Given the description of an element on the screen output the (x, y) to click on. 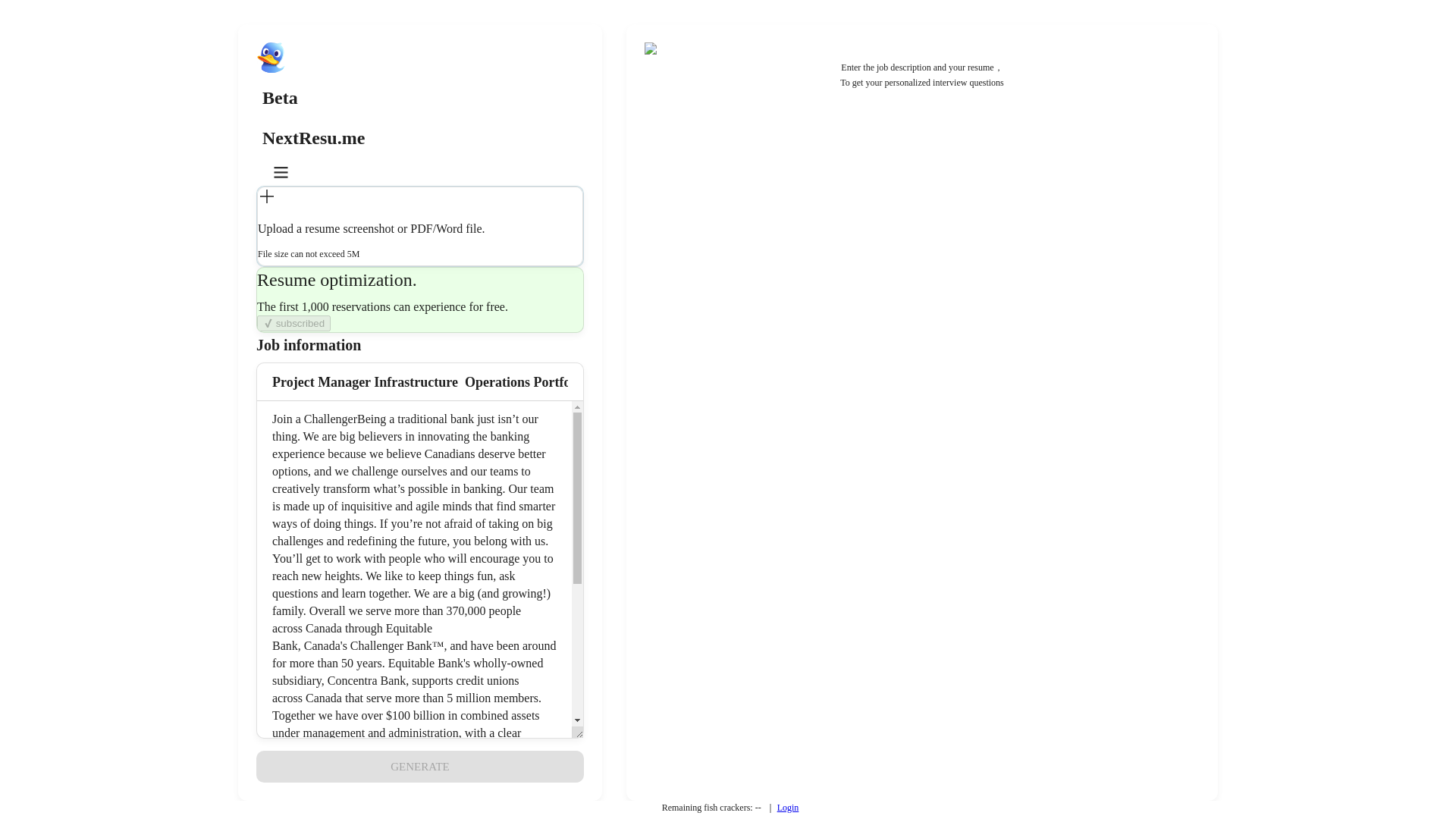
GENERATE (419, 766)
Remaining fish crackers: -- (711, 807)
Login (788, 807)
